Given the description of an element on the screen output the (x, y) to click on. 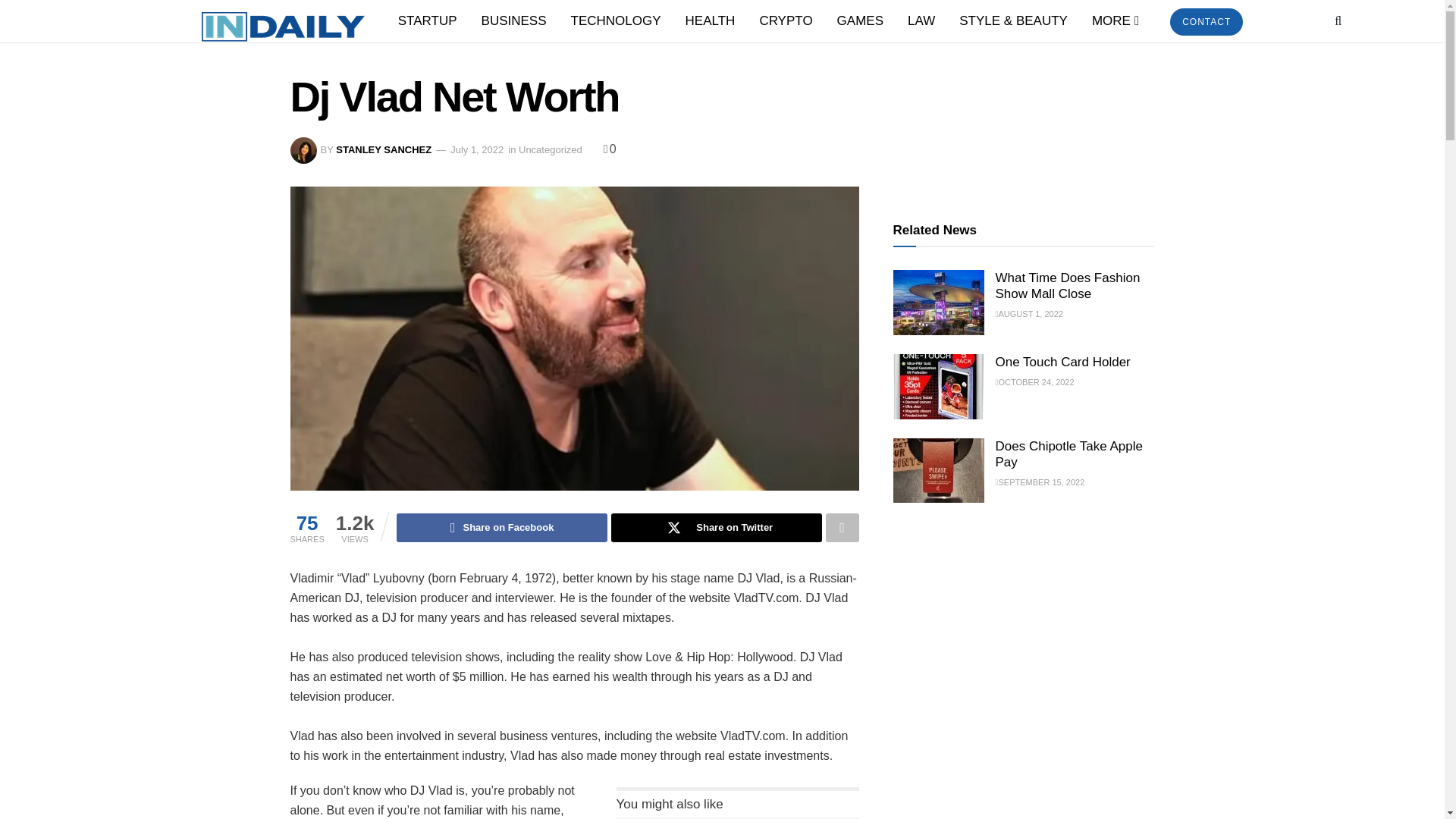
0 (609, 148)
LAW (921, 21)
HEALTH (710, 21)
BUSINESS (513, 21)
CRYPTO (785, 21)
STARTUP (426, 21)
July 1, 2022 (476, 149)
TECHNOLOGY (615, 21)
Does Chipotle Take Apple Pay (938, 470)
MORE (1114, 21)
What Time Does Fashion Show Mall Close (938, 302)
STANLEY SANCHEZ (383, 149)
One Touch Card Holder (938, 386)
GAMES (860, 21)
